Given the description of an element on the screen output the (x, y) to click on. 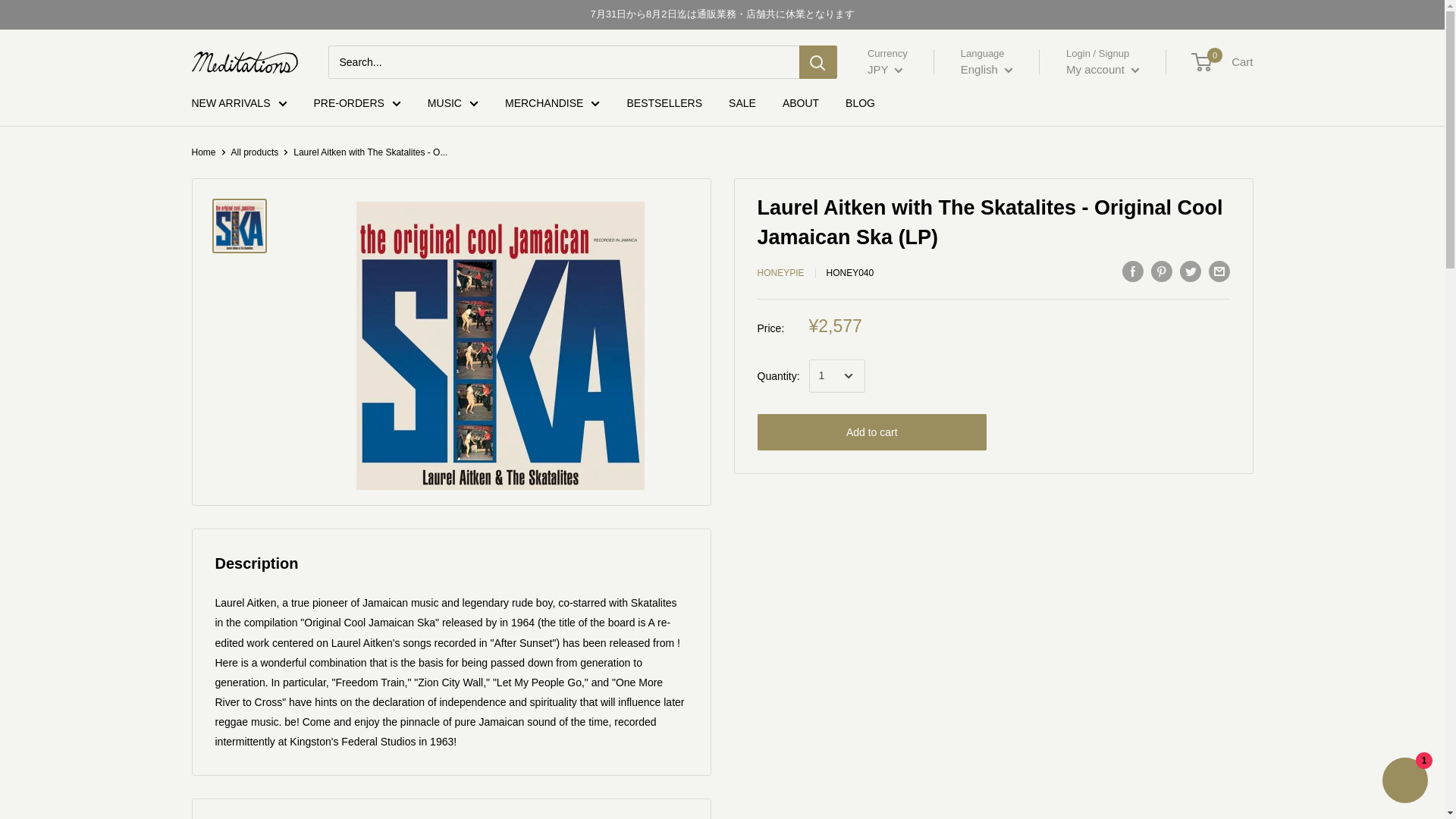
Shopify online store chat (1404, 781)
